Given the description of an element on the screen output the (x, y) to click on. 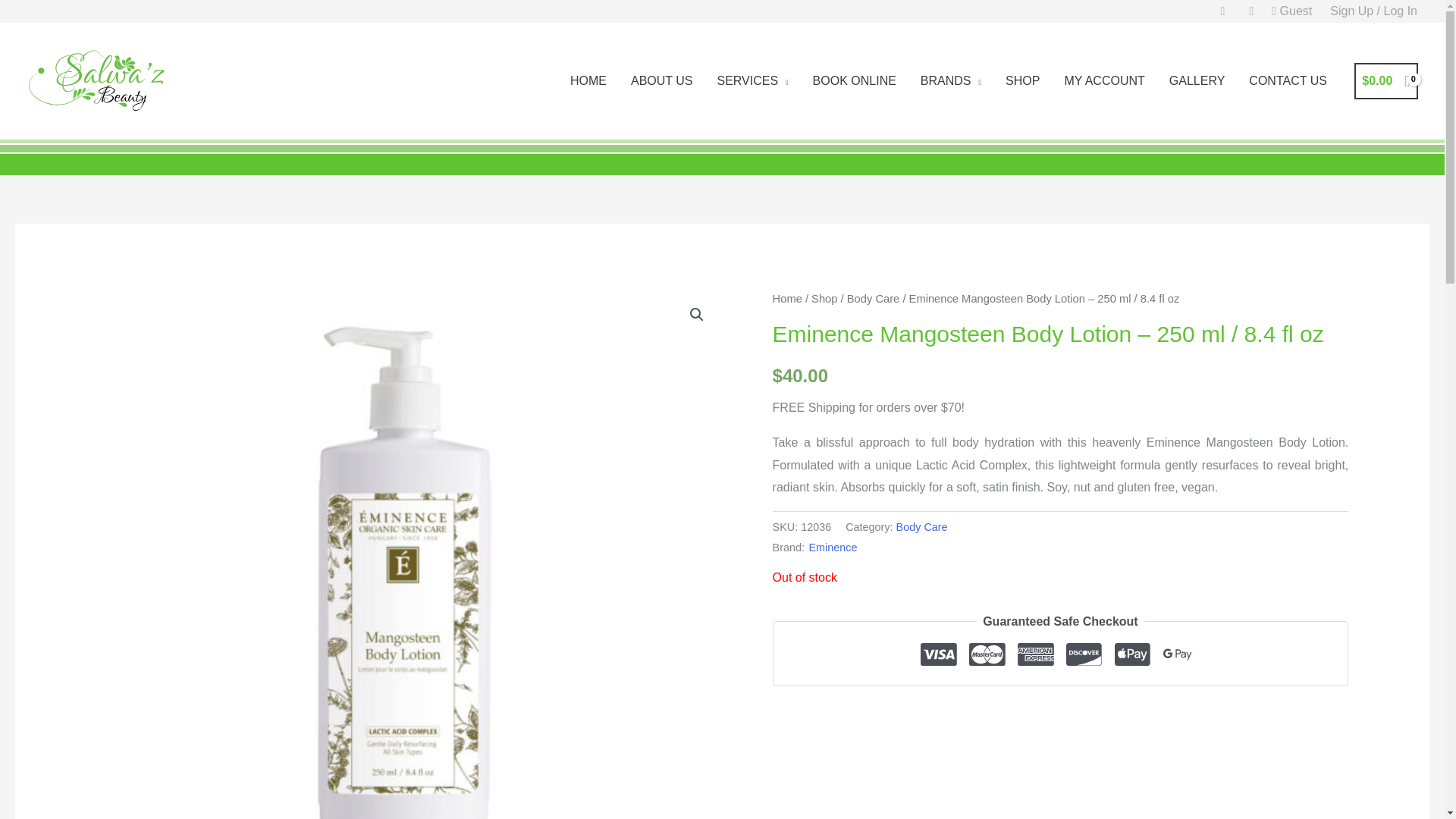
View brand (832, 547)
CONTACT US (1287, 80)
MY ACCOUNT (1103, 80)
ABOUT US (661, 80)
SERVICES (751, 80)
BRANDS (950, 80)
HOME (587, 80)
GALLERY (1197, 80)
SHOP (1021, 80)
BOOK ONLINE (854, 80)
